Given the description of an element on the screen output the (x, y) to click on. 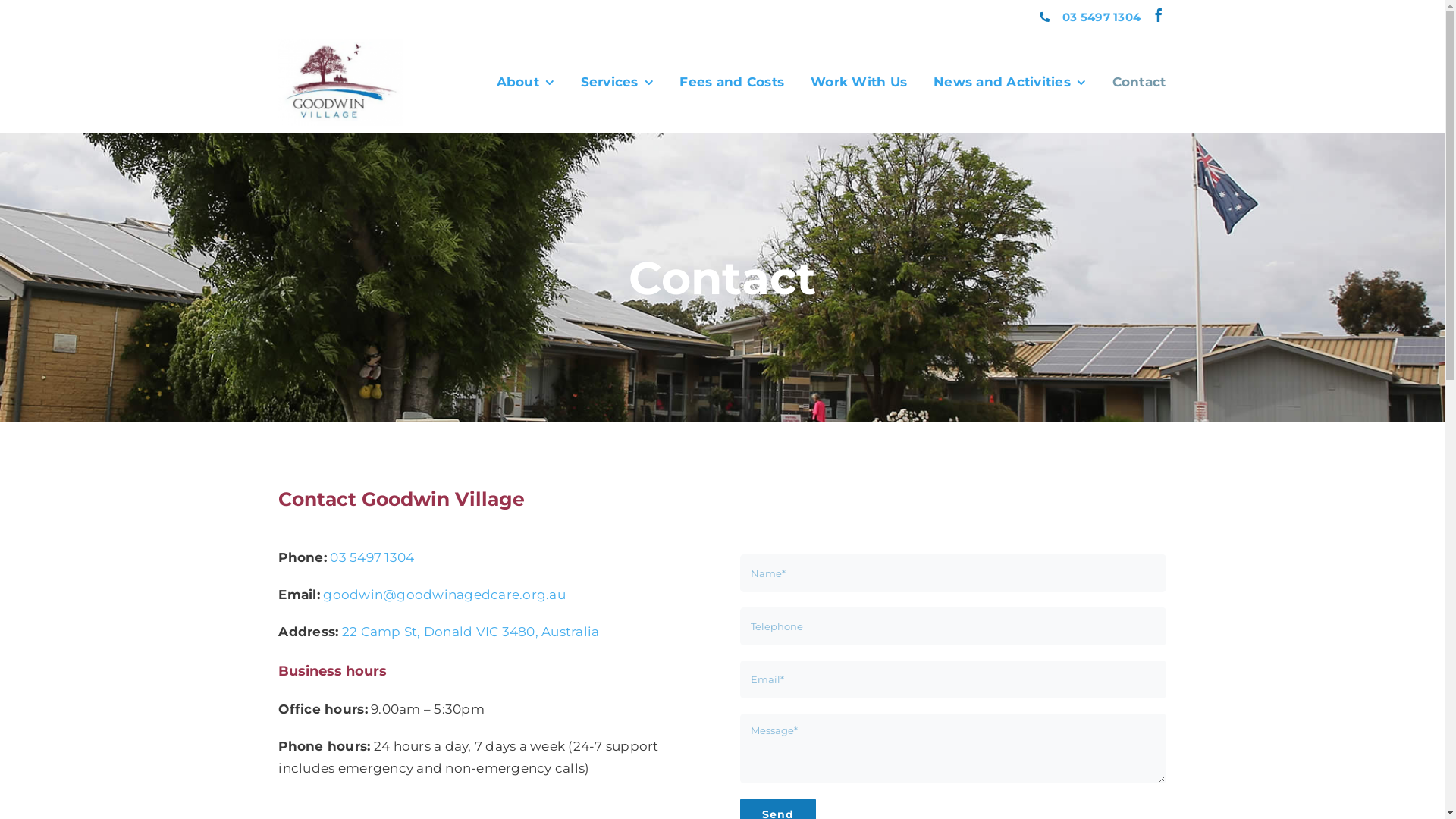
Only numbers and phone characters are accepted. Element type: hover (953, 626)
Fees and Costs Element type: text (731, 81)
Work With Us Element type: text (858, 81)
goodwin@goodwinagedcare.org.au Element type: text (444, 594)
22 Camp St, Donald VIC 3480, Australia Element type: text (470, 631)
News and Activities Element type: text (1009, 81)
Services Element type: text (616, 81)
03 5497 1304 Element type: text (1101, 16)
About Element type: text (525, 81)
Contact Element type: text (1139, 81)
03 5497 1304 Element type: text (371, 556)
